Given the description of an element on the screen output the (x, y) to click on. 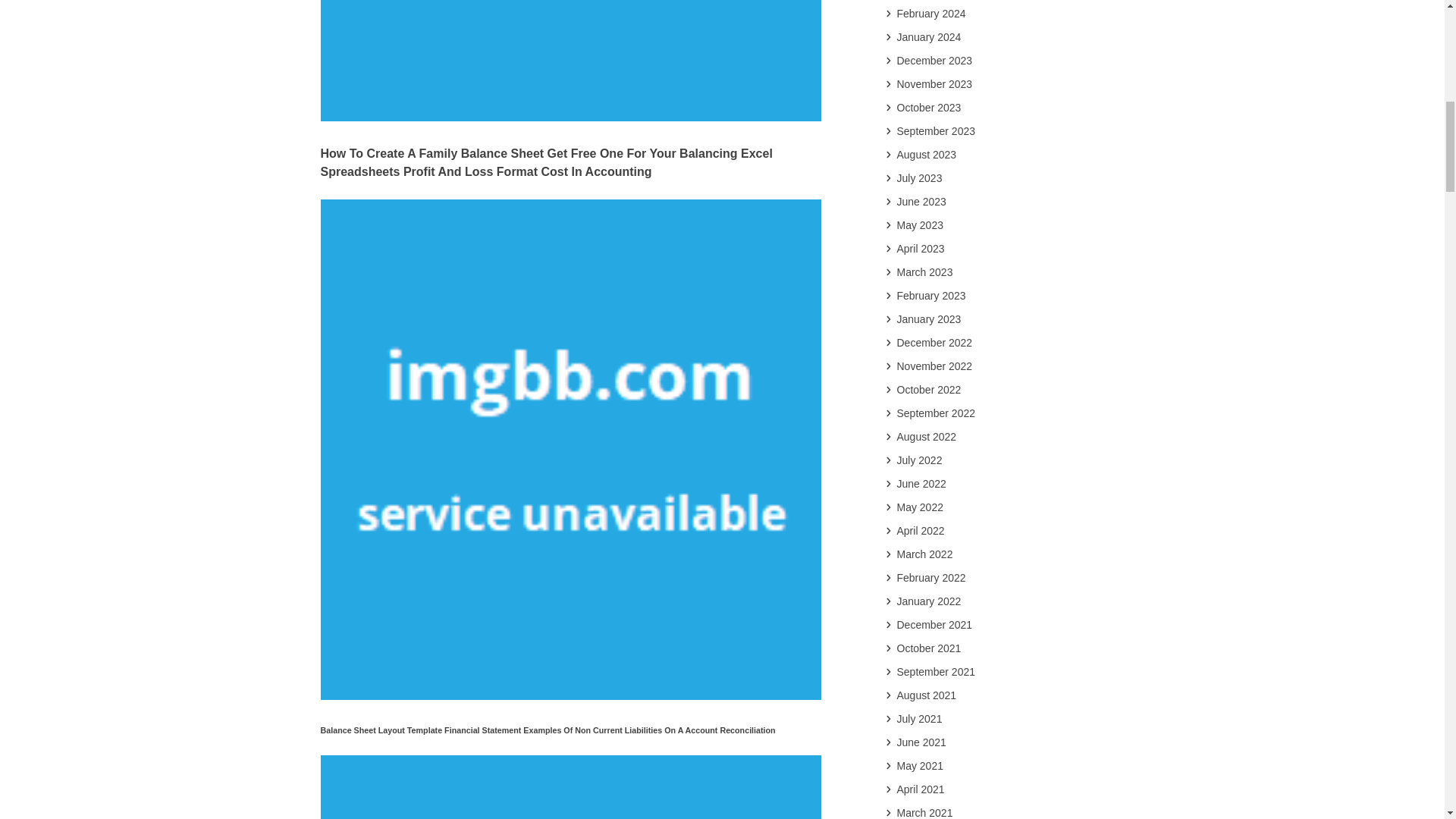
October 2023 (929, 108)
March 2024 (924, 1)
January 2024 (929, 37)
February 2024 (931, 14)
November 2023 (935, 84)
August 2023 (927, 155)
December 2023 (935, 60)
September 2023 (936, 131)
